Given the description of an element on the screen output the (x, y) to click on. 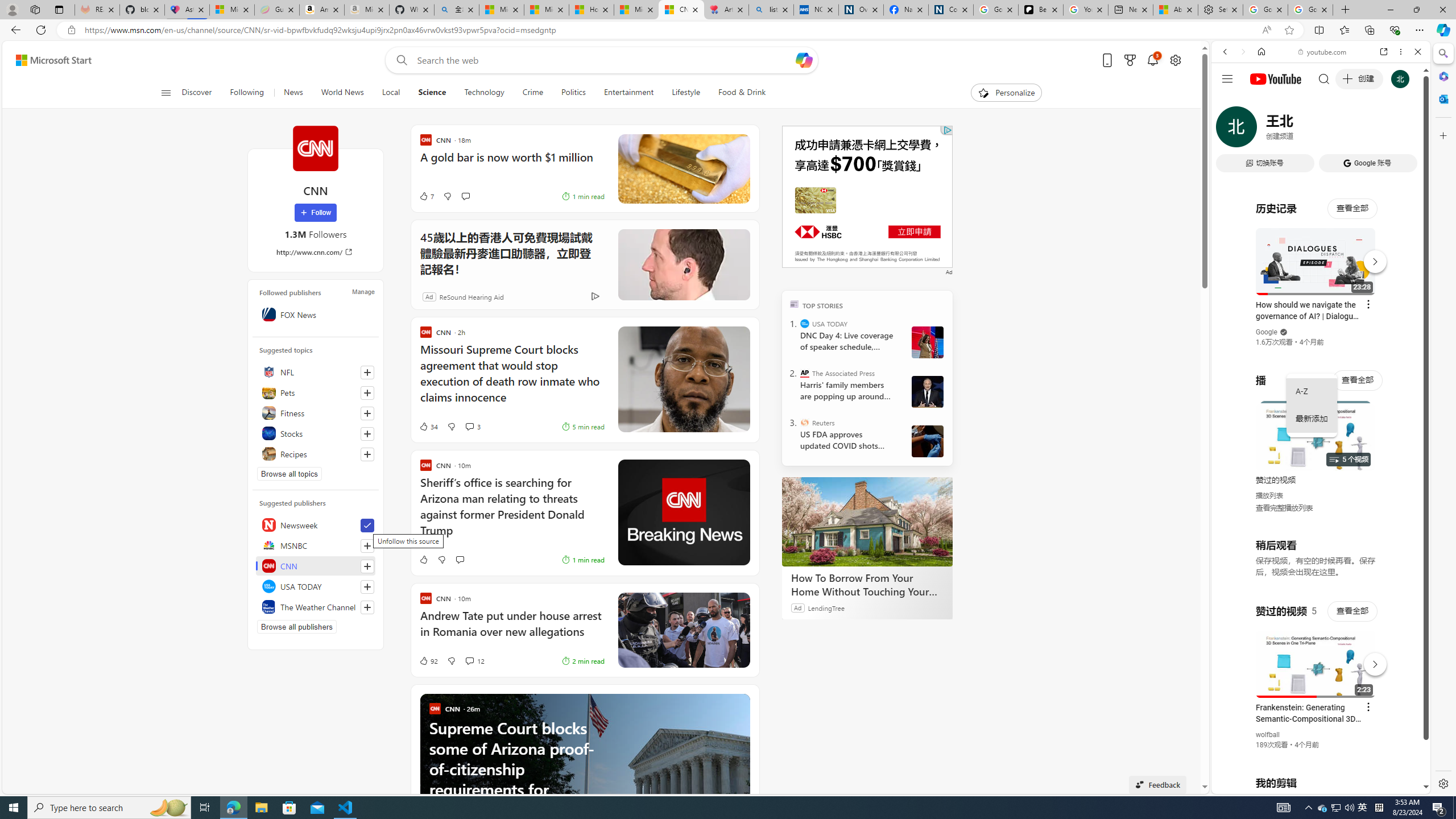
How To Borrow From Your Home Without Touching Your Mortgage (866, 584)
CNN - MSN (681, 9)
Class: qc-adchoices-link top-right  (946, 129)
A-Z (1311, 391)
Lifestyle (685, 92)
Entertainment (627, 92)
wolfball (1268, 734)
